Given the description of an element on the screen output the (x, y) to click on. 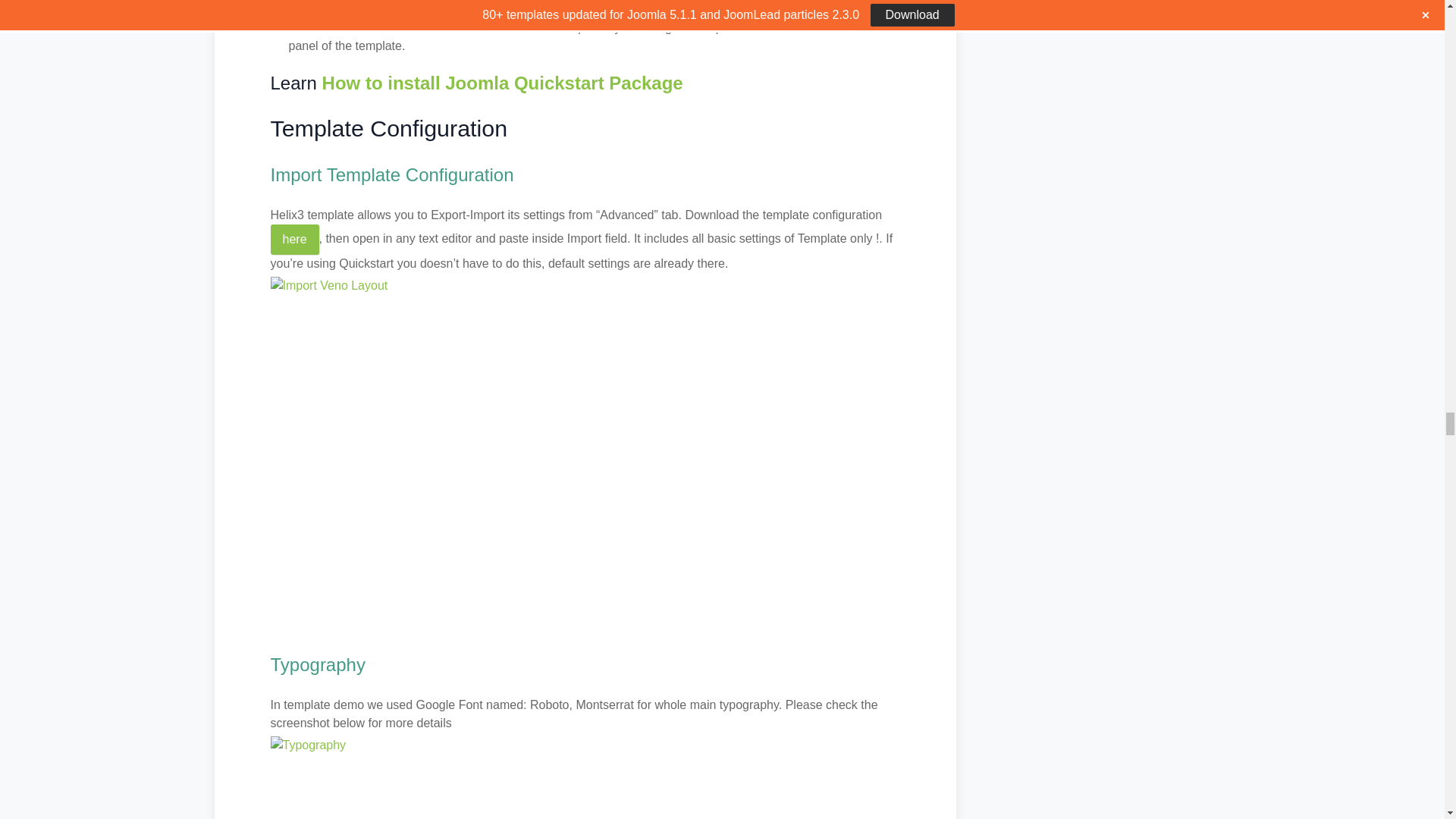
How to install Joomla Quickstart Package (501, 82)
here (293, 239)
